Given the description of an element on the screen output the (x, y) to click on. 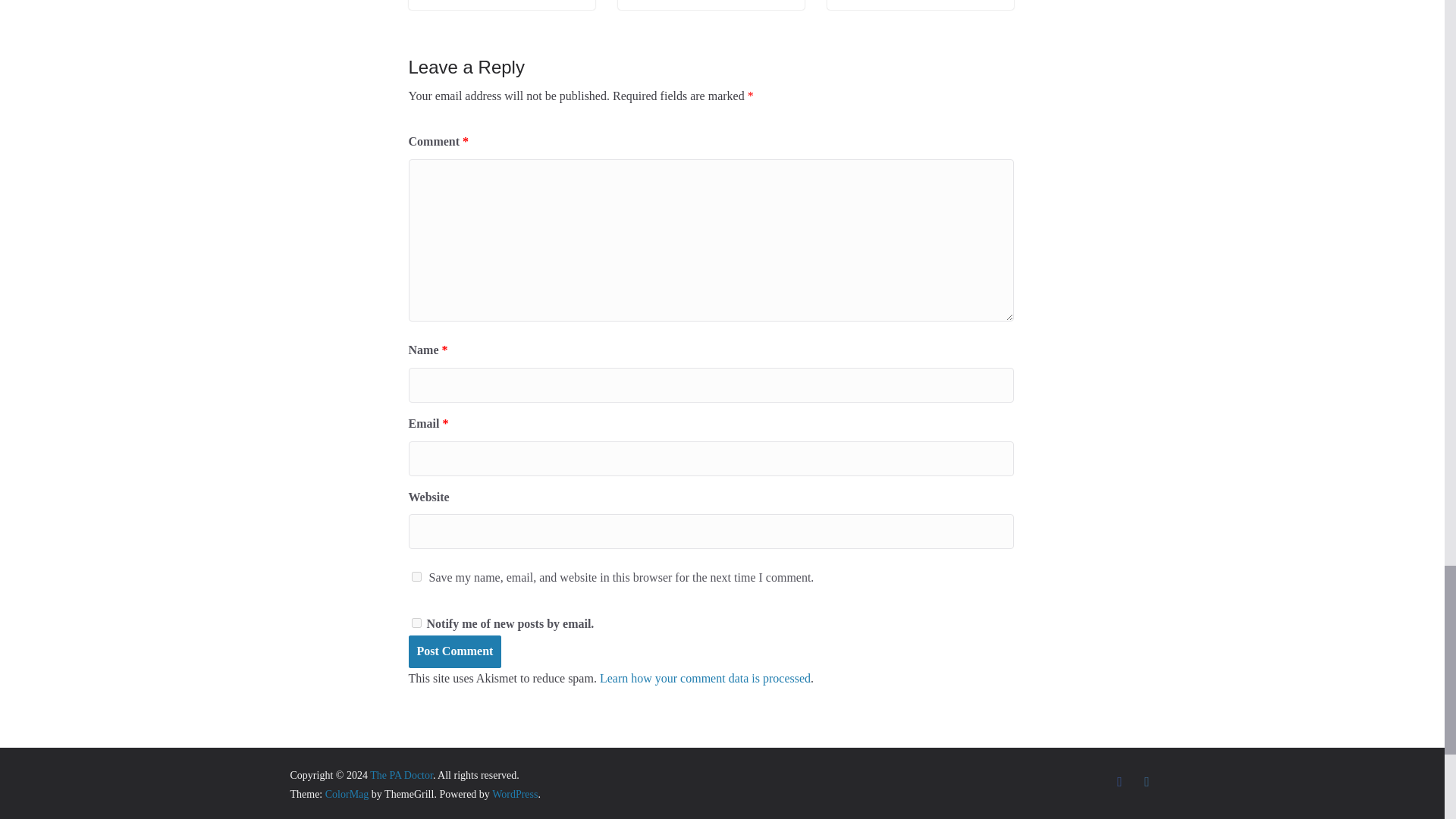
Post Comment (453, 651)
subscribe (415, 623)
yes (415, 576)
